Given the description of an element on the screen output the (x, y) to click on. 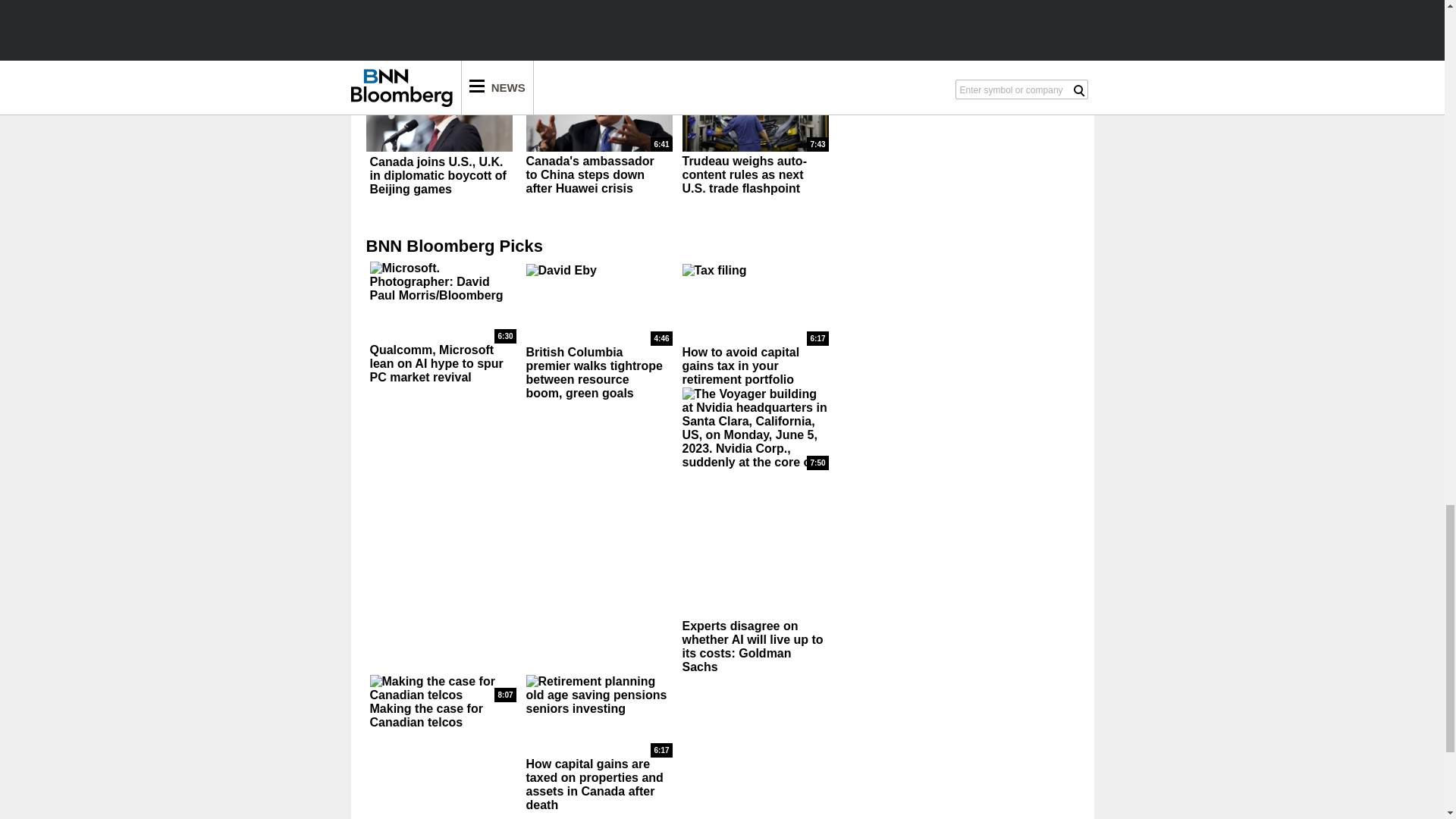
Making the case for Canadian telcos (442, 687)
